Given the description of an element on the screen output the (x, y) to click on. 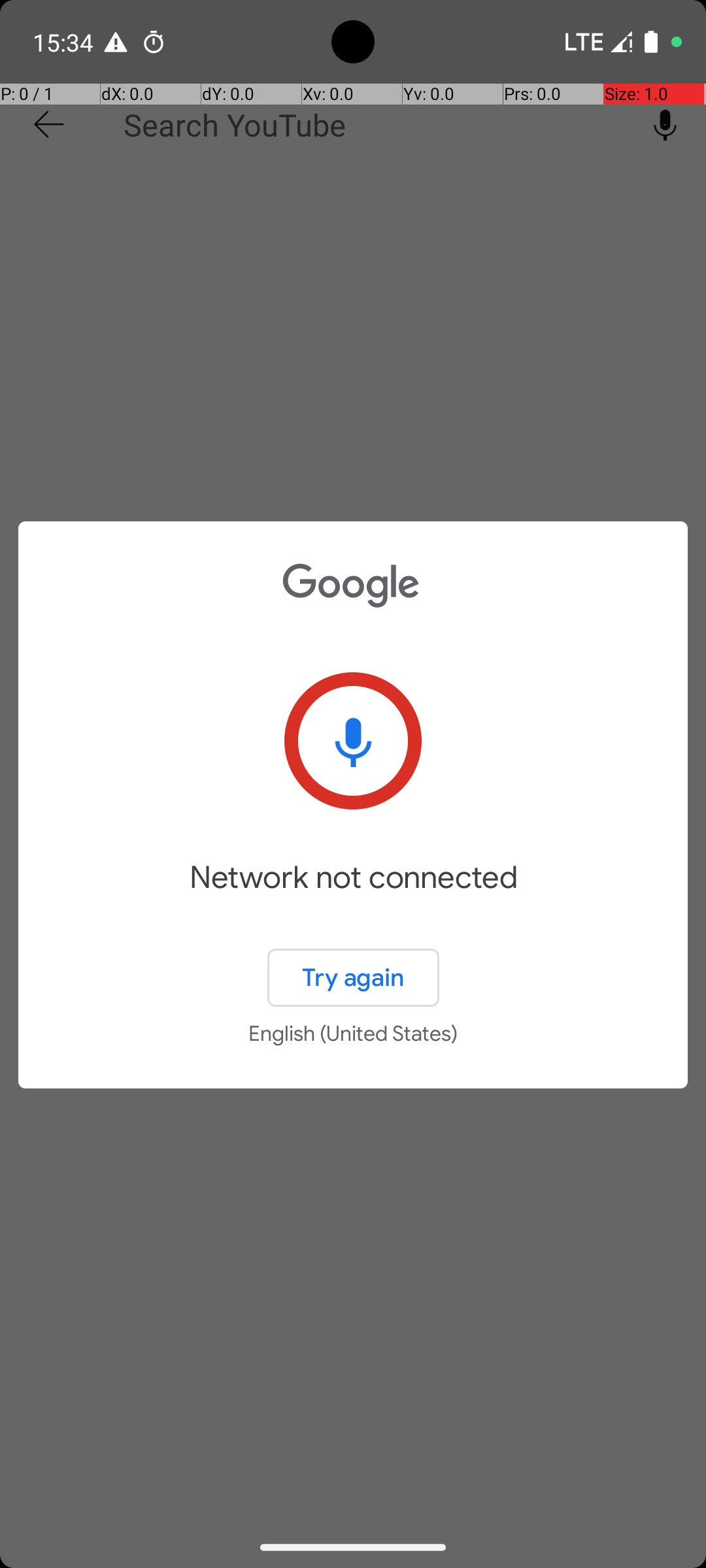
Network not connected Element type: android.widget.TextView (352, 895)
Try again Element type: android.widget.Button (353, 977)
